Given the description of an element on the screen output the (x, y) to click on. 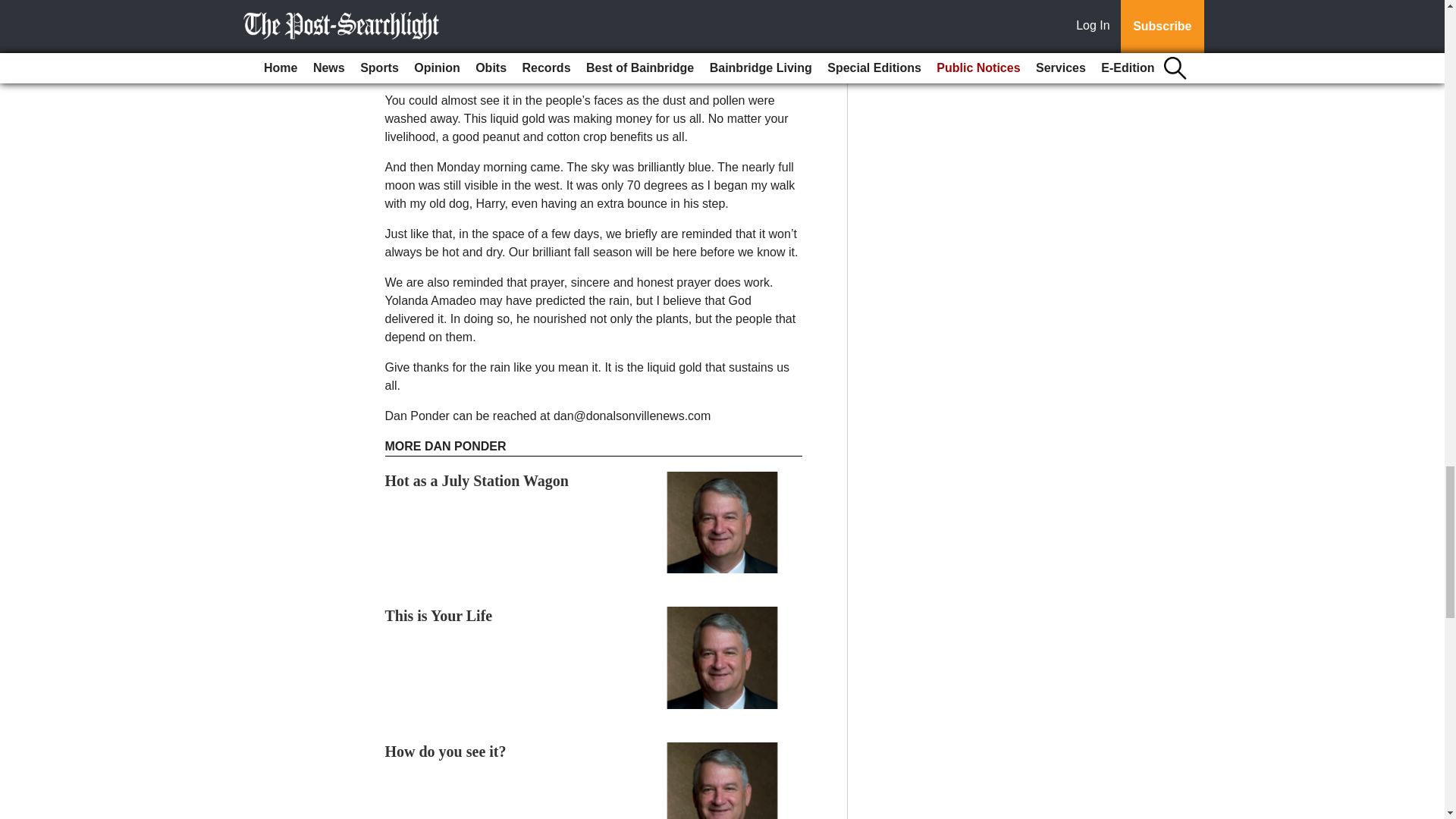
Hot as a July Station Wagon (477, 480)
This is Your Life (439, 615)
Hot as a July Station Wagon (477, 480)
How do you see it? (445, 751)
This is Your Life (439, 615)
